Given the description of an element on the screen output the (x, y) to click on. 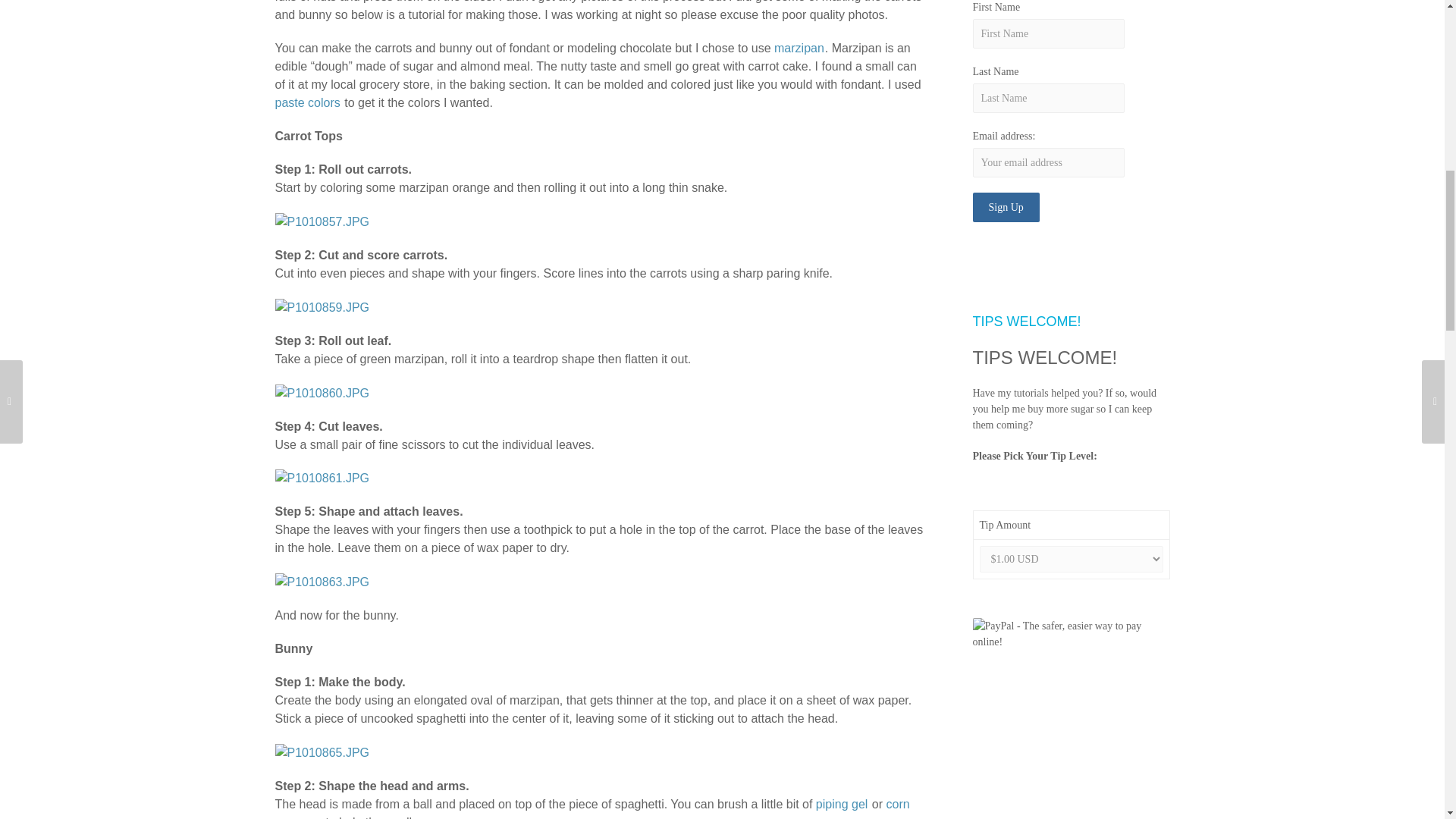
Sign Up (1005, 206)
